Given the description of an element on the screen output the (x, y) to click on. 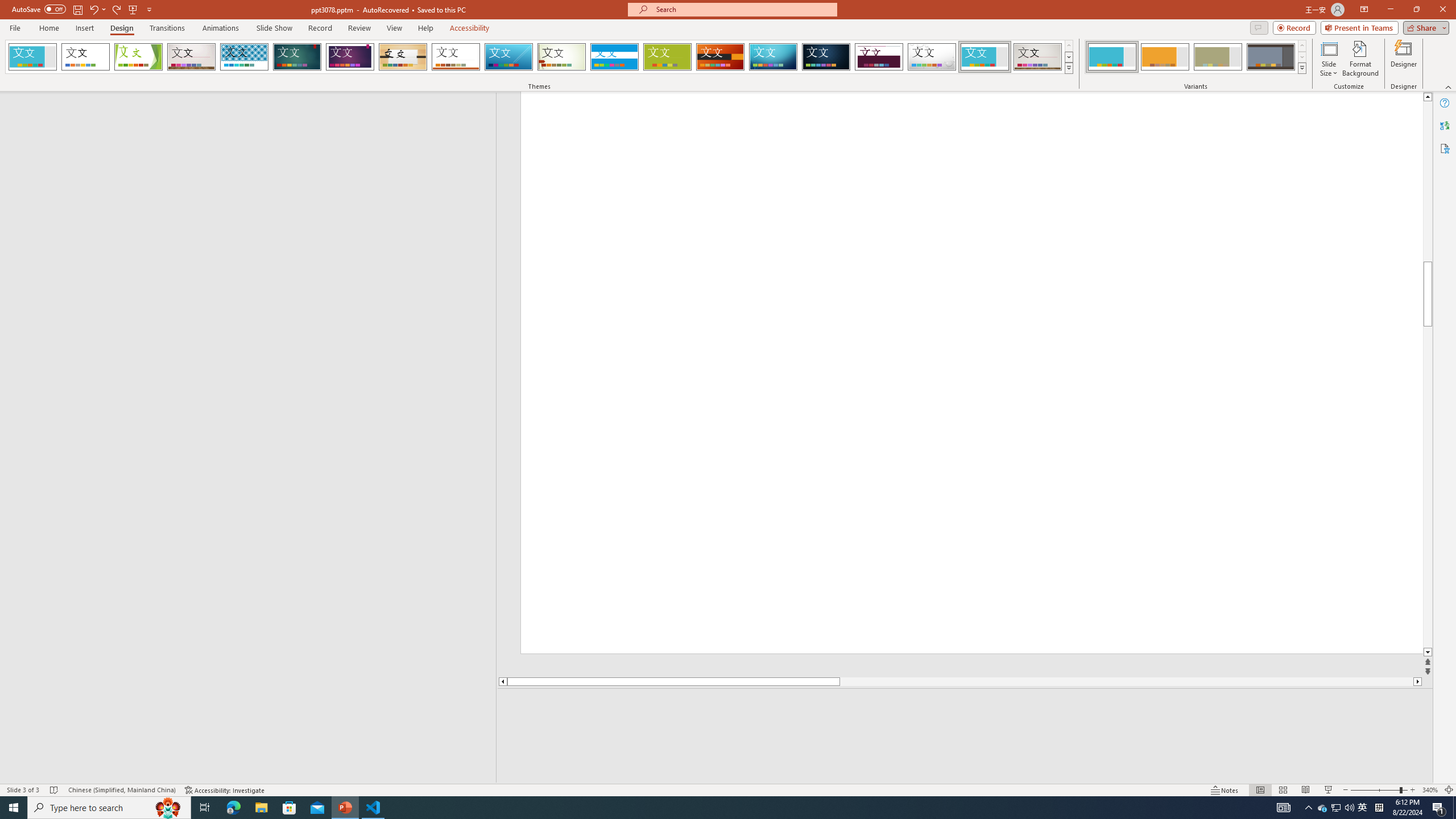
Frame Variant 1 (1112, 56)
Frame Variant 4 (1270, 56)
